Given the description of an element on the screen output the (x, y) to click on. 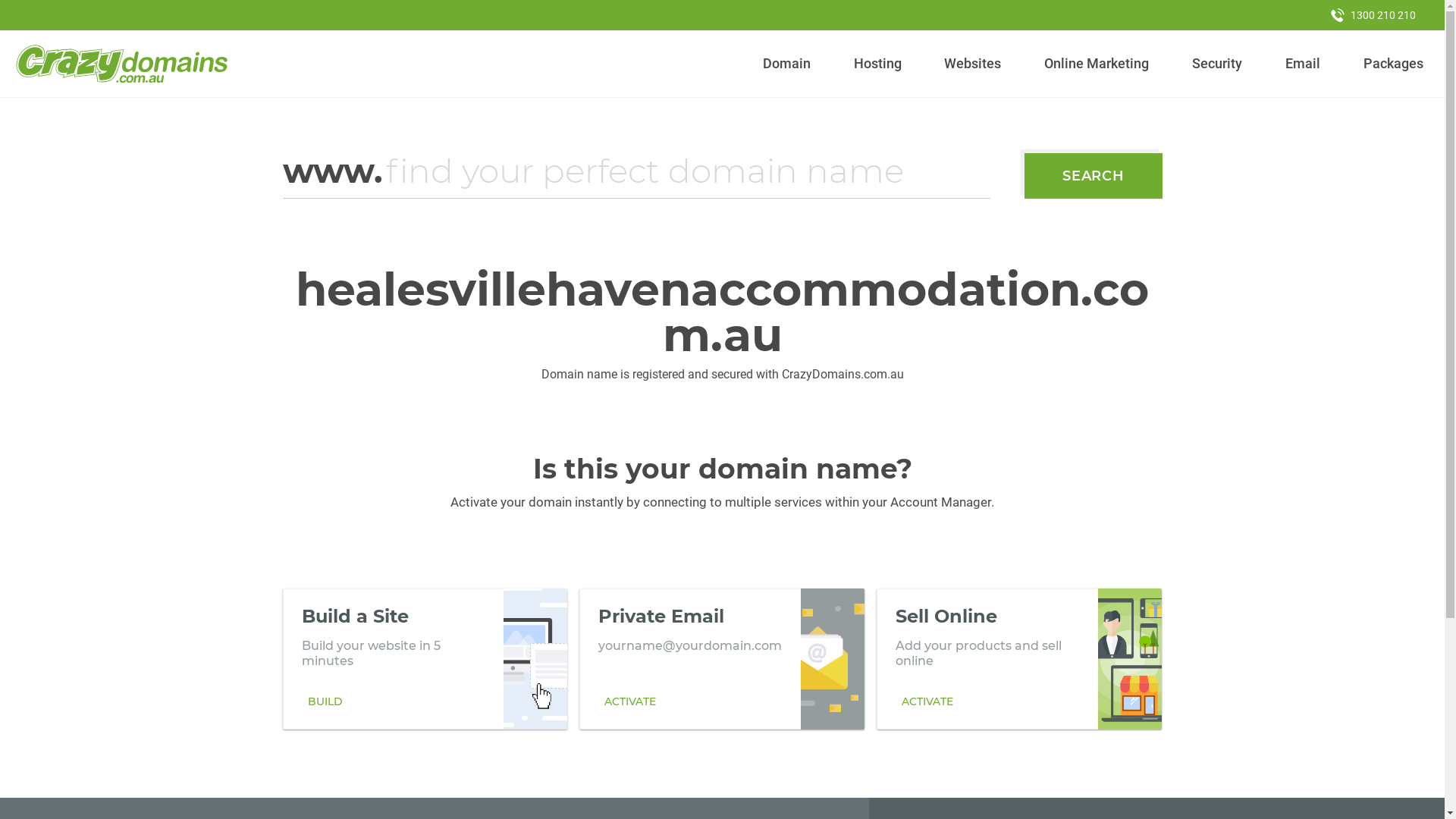
Email Element type: text (1302, 63)
Security Element type: text (1217, 63)
Hosting Element type: text (877, 63)
Online Marketing Element type: text (1096, 63)
Packages Element type: text (1392, 63)
Sell Online
Add your products and sell online
ACTIVATE Element type: text (1018, 658)
Private Email
yourname@yourdomain.com
ACTIVATE Element type: text (721, 658)
Websites Element type: text (972, 63)
1300 210 210 Element type: text (1373, 15)
SEARCH Element type: text (1092, 175)
Build a Site
Build your website in 5 minutes
BUILD Element type: text (424, 658)
Domain Element type: text (786, 63)
